Given the description of an element on the screen output the (x, y) to click on. 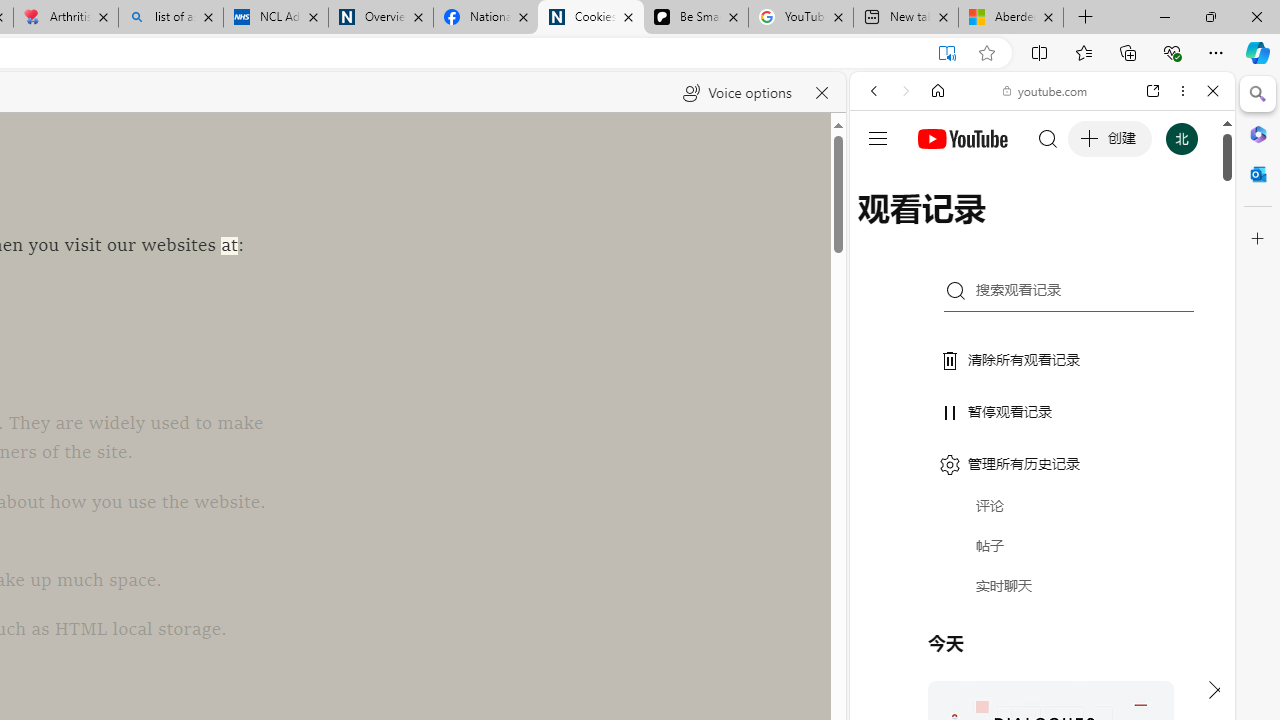
Google (1042, 494)
Cookies (590, 17)
Aberdeen, Hong Kong SAR hourly forecast | Microsoft Weather (1010, 17)
